Given the description of an element on the screen output the (x, y) to click on. 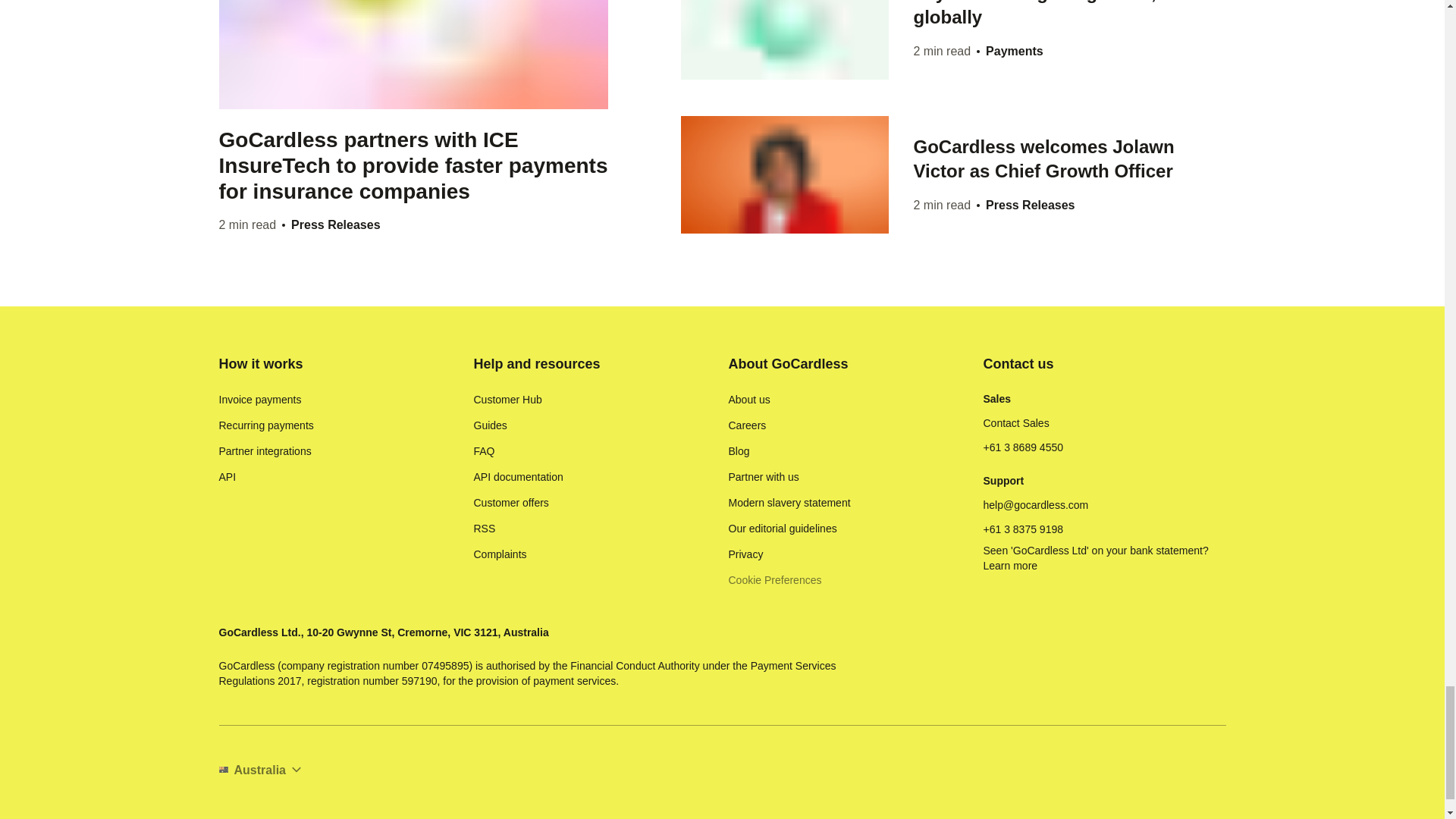
Recurring payments (265, 425)
About us (749, 399)
Customer Hub (507, 399)
Blog (738, 450)
Invoice payments (259, 399)
Partner integrations (264, 450)
Careers (746, 425)
FAQ (484, 450)
RSS (484, 528)
Complaints (499, 554)
